Given the description of an element on the screen output the (x, y) to click on. 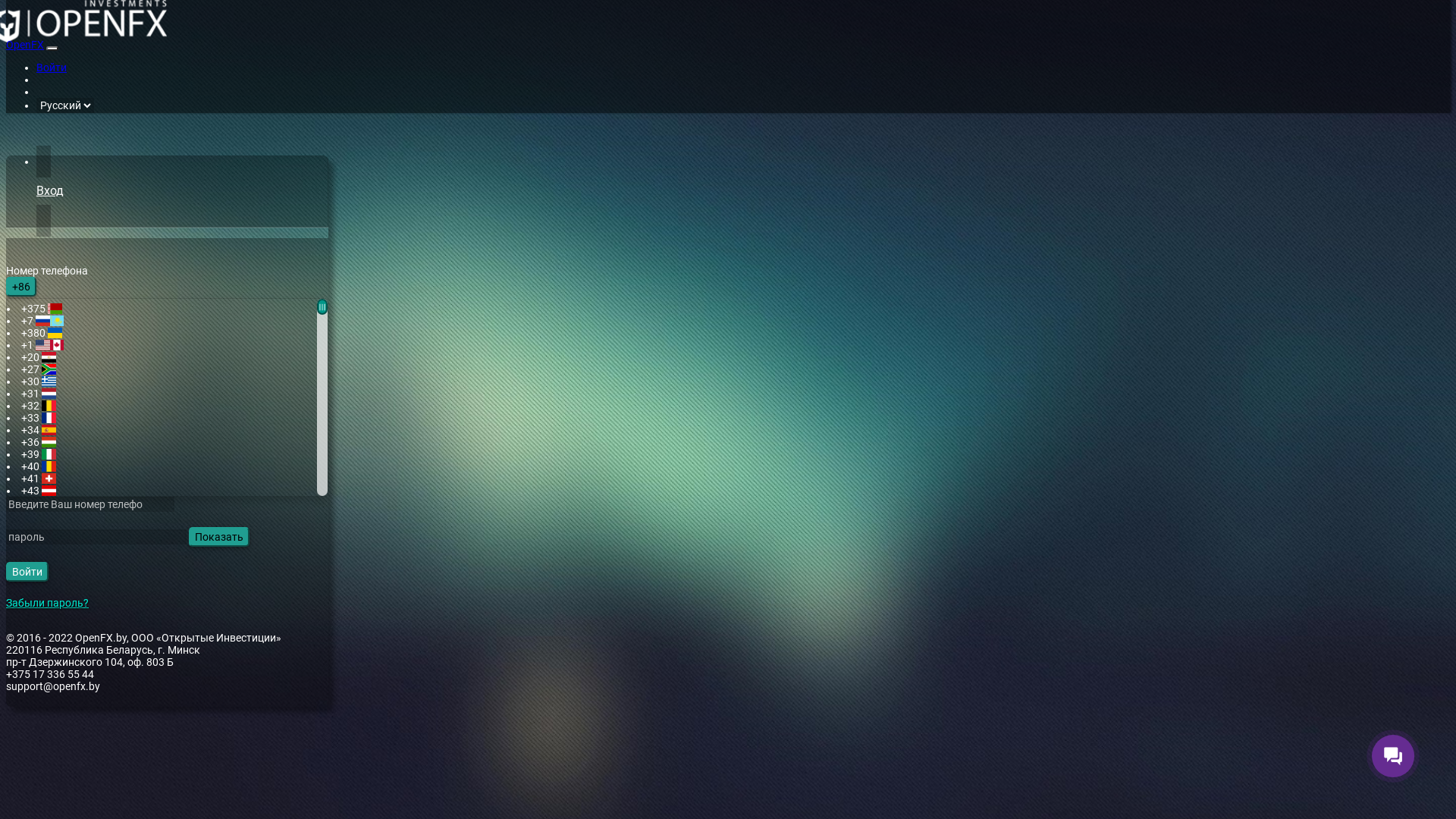
OpenFX Element type: text (24, 44)
+86 Element type: text (21, 286)
